Given the description of an element on the screen output the (x, y) to click on. 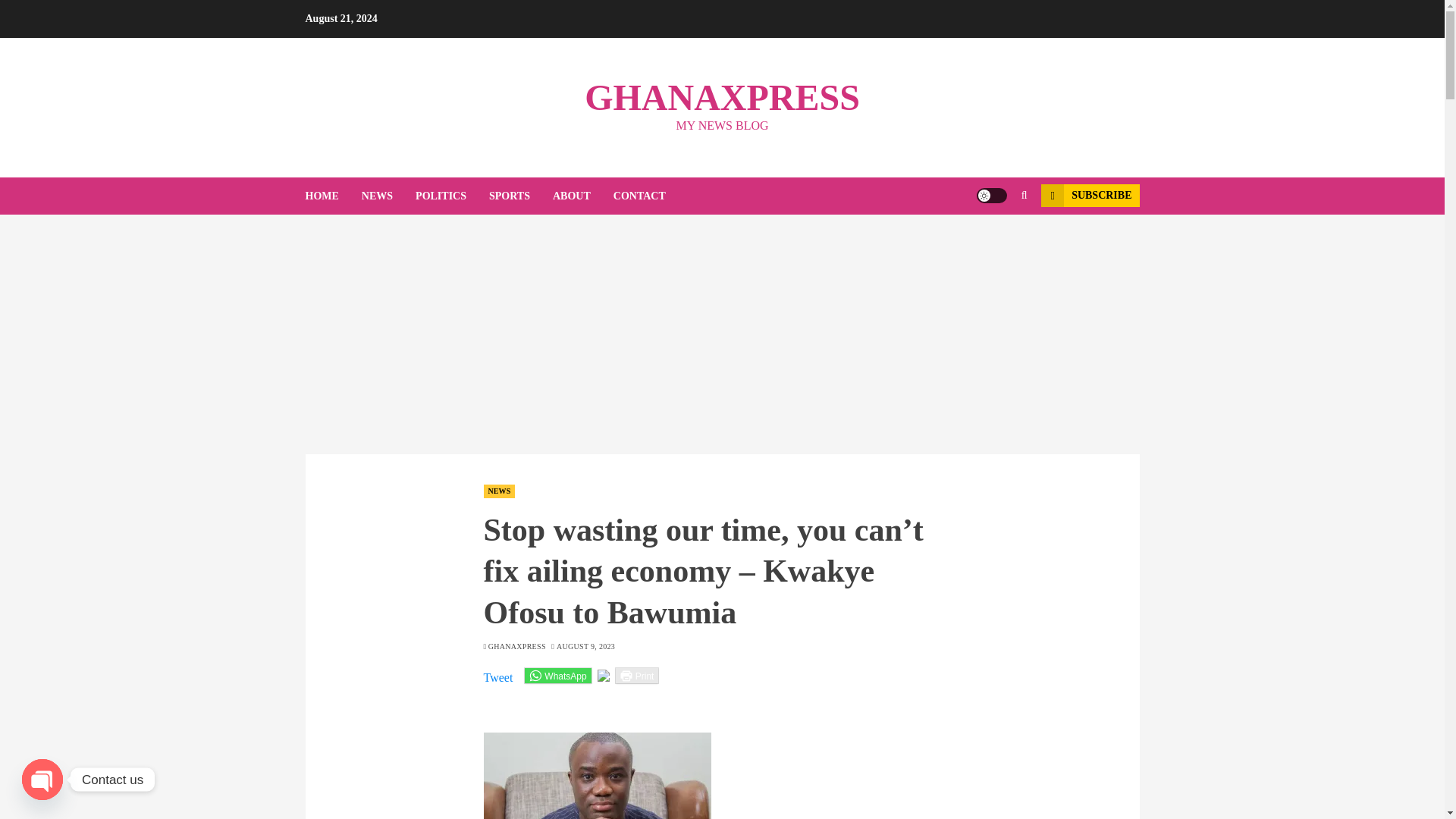
CONTACT (638, 195)
GHANAXPRESS (516, 646)
Print (637, 675)
Click to share on WhatsApp (557, 675)
GHANAXPRESS (722, 96)
WhatsApp (557, 675)
Click to print (637, 675)
NEWS (387, 195)
AUGUST 9, 2023 (585, 646)
HOME (332, 195)
